Given the description of an element on the screen output the (x, y) to click on. 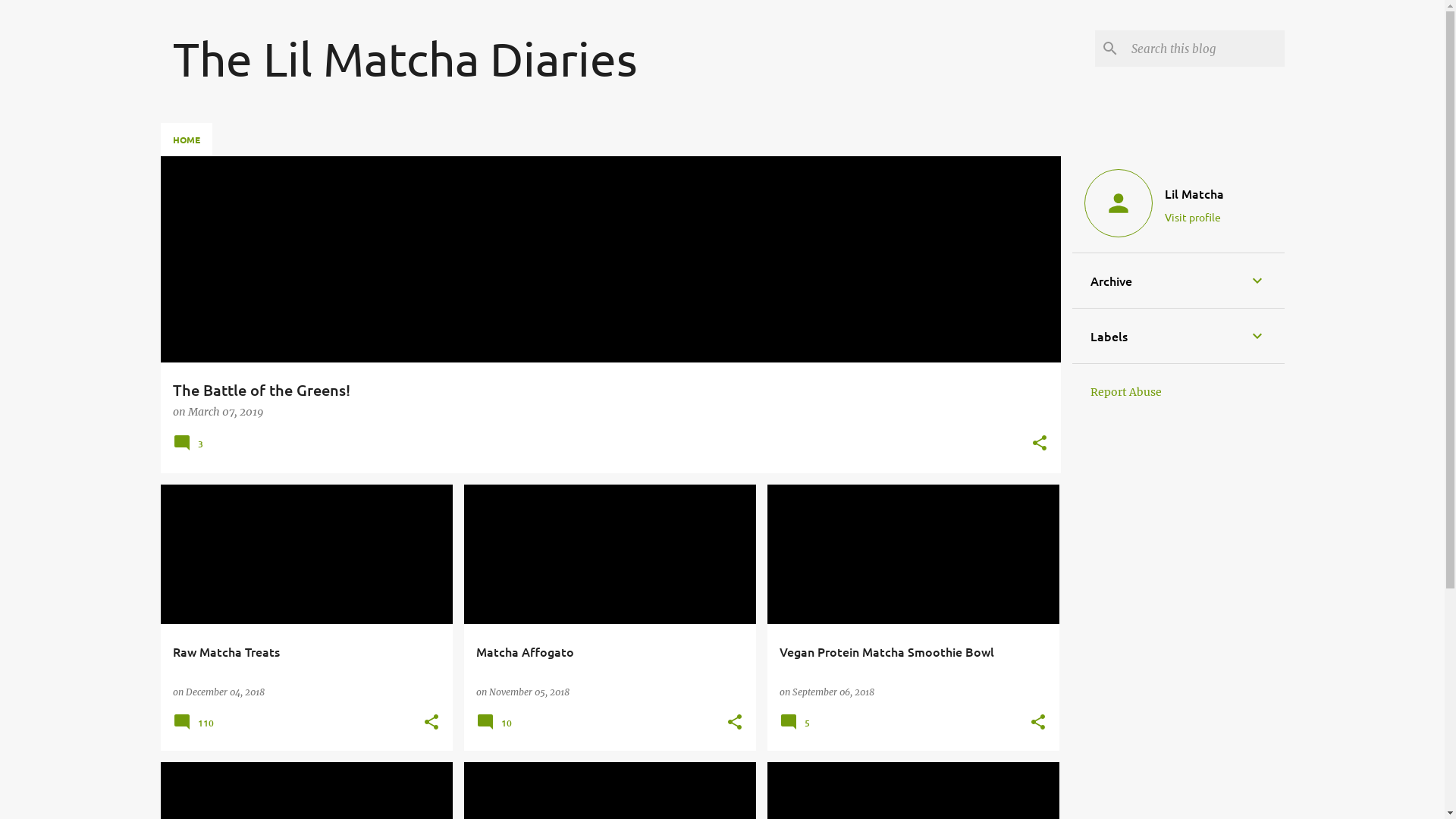
December 04, 2018 Element type: text (224, 691)
Visit profile Element type: text (1194, 216)
HOME Element type: text (186, 139)
Report Abuse Element type: text (1125, 391)
5 Element type: text (796, 727)
The Battle of the Greens! Element type: text (610, 389)
September 06, 2018 Element type: text (832, 691)
3 Element type: text (189, 448)
November 05, 2018 Element type: text (528, 691)
March 07, 2019 Element type: text (225, 411)
110 Element type: text (195, 727)
Lil Matcha Element type: text (1194, 192)
10 Element type: text (496, 727)
